Given the description of an element on the screen output the (x, y) to click on. 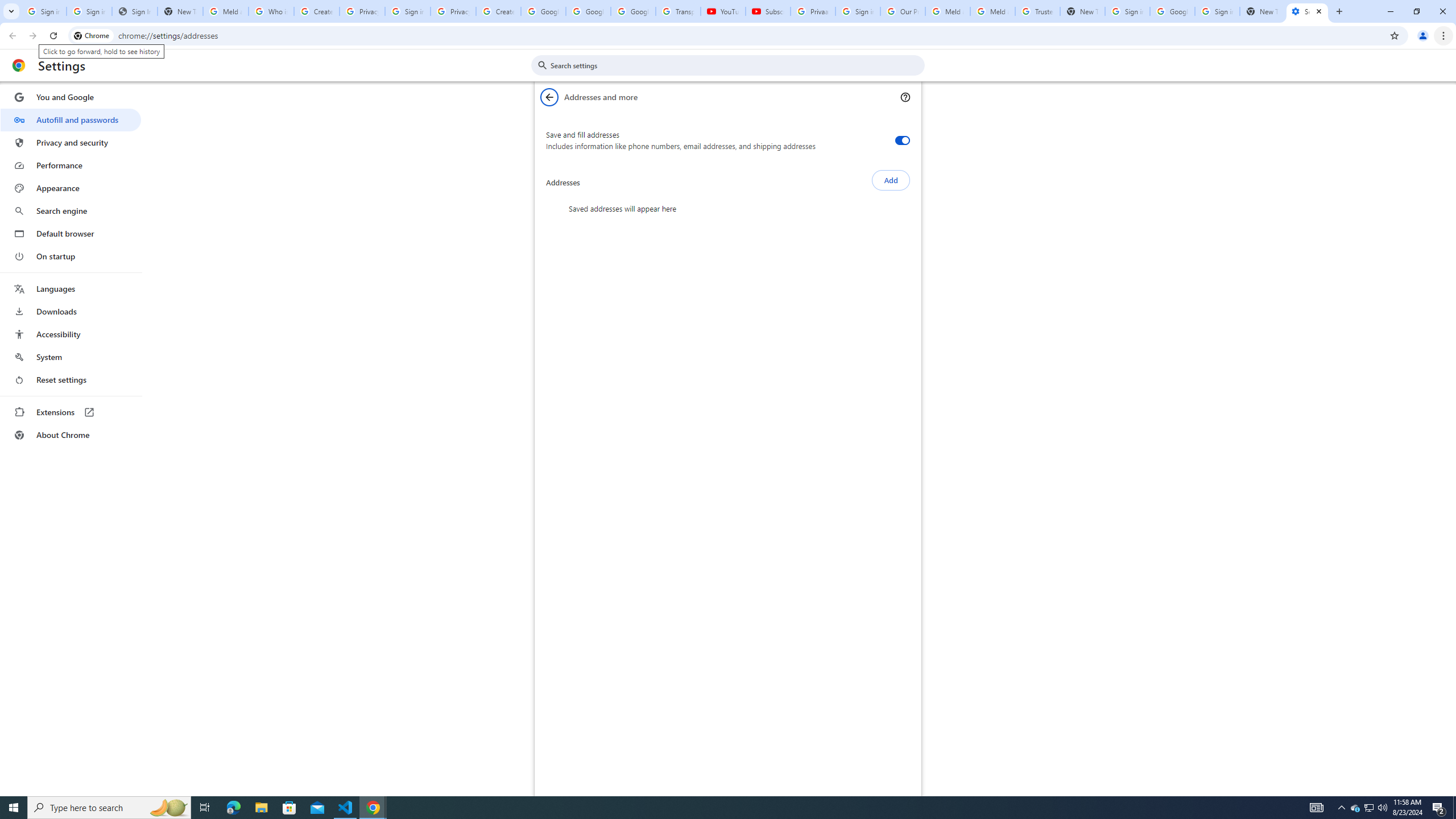
Reset settings (70, 379)
AutomationID: menu (71, 265)
Subscriptions - YouTube (767, 11)
Sign in - Google Accounts (1126, 11)
Create your Google Account (316, 11)
Trusted Information and Content - Google Safety Center (1037, 11)
Google Account (633, 11)
On startup (70, 255)
Google Cybersecurity Innovations - Google Safety Center (1171, 11)
Sign in - Google Accounts (1216, 11)
Sign in - Google Accounts (88, 11)
